Given the description of an element on the screen output the (x, y) to click on. 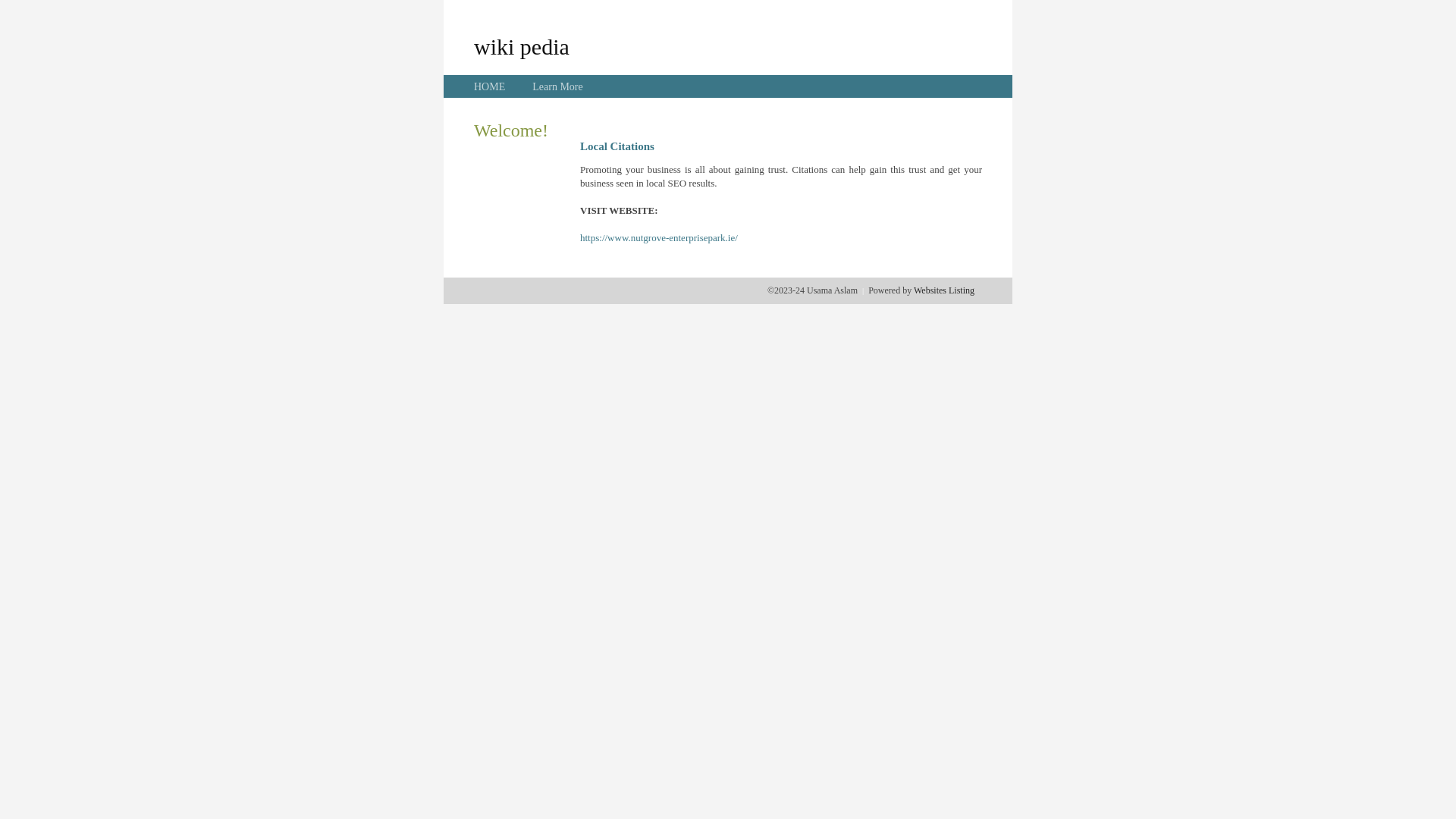
wiki pedia Element type: text (521, 46)
Learn More Element type: text (557, 86)
HOME Element type: text (489, 86)
https://www.nutgrove-enterprisepark.ie/ Element type: text (658, 237)
Websites Listing Element type: text (943, 290)
